Given the description of an element on the screen output the (x, y) to click on. 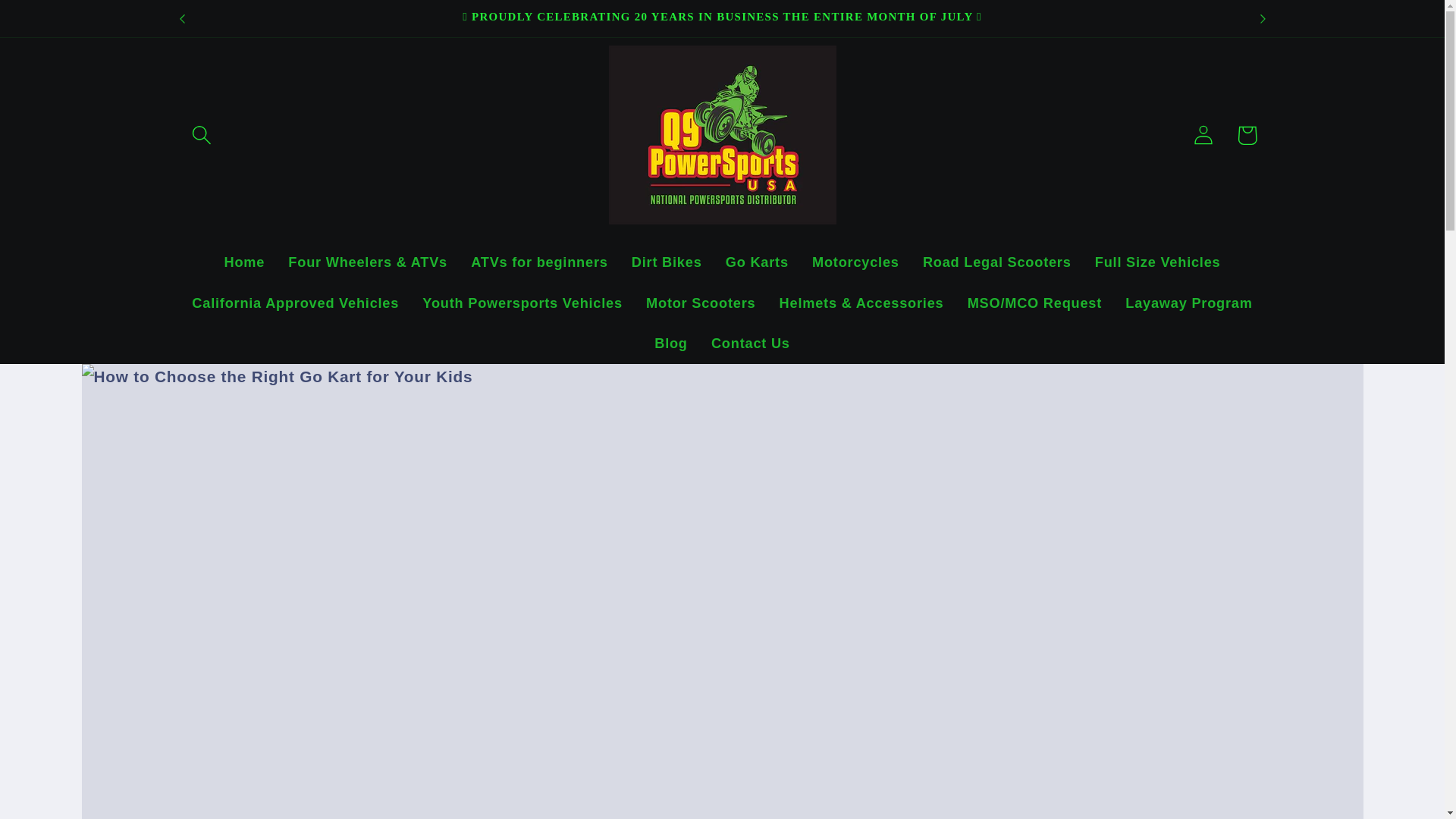
Dirt Bikes (666, 262)
Go Karts (756, 262)
ATVs for beginners (540, 262)
Skip to content (59, 22)
Motorcycles (855, 262)
Home (244, 262)
